Given the description of an element on the screen output the (x, y) to click on. 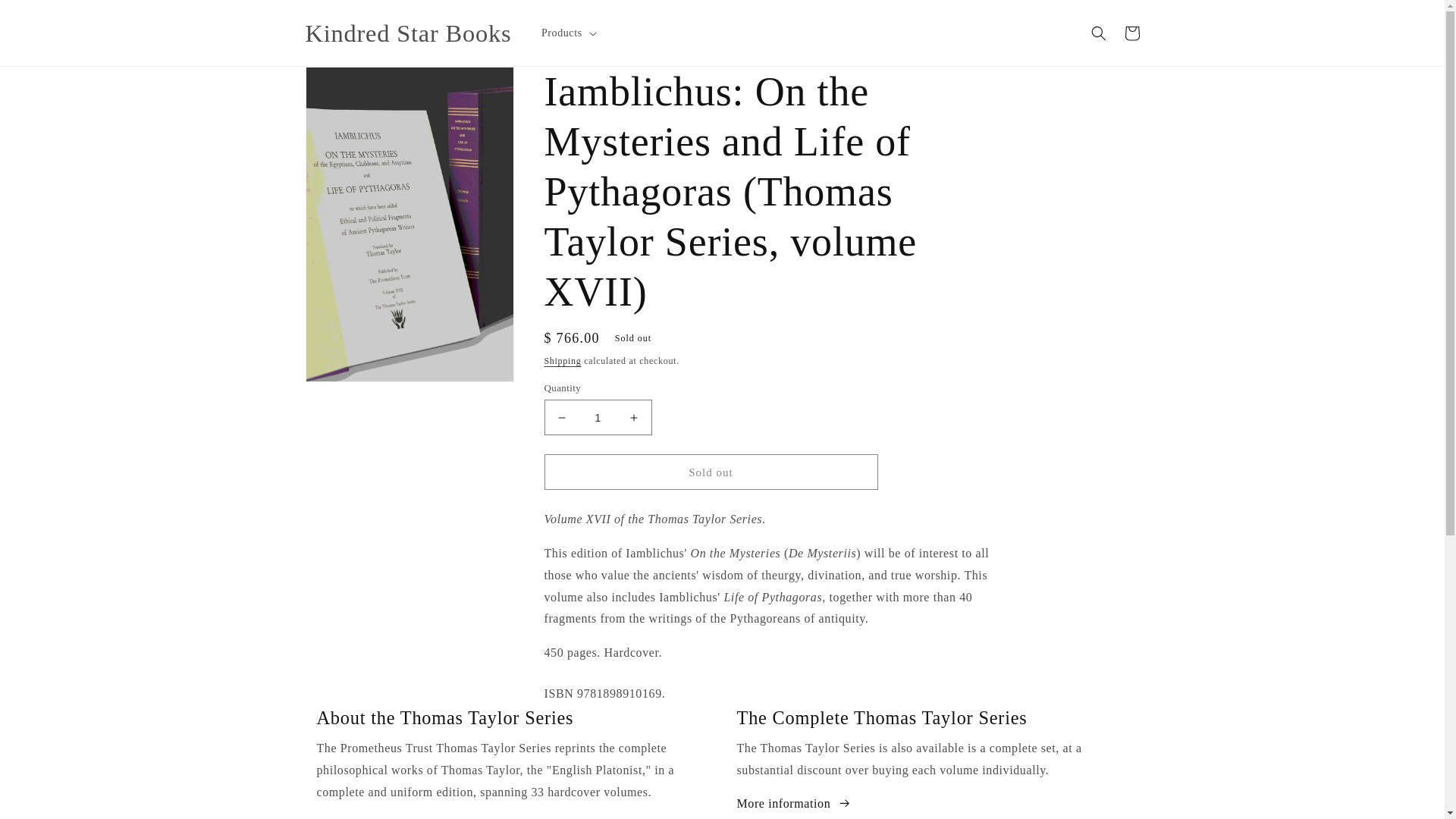
Skip to product information (350, 83)
1 (598, 416)
Shipping (562, 360)
Skip to content (45, 17)
Cart (1131, 32)
Kindred Star Books (407, 32)
See all individual volumes  (398, 816)
Sold out (710, 471)
More information  (793, 803)
